Given the description of an element on the screen output the (x, y) to click on. 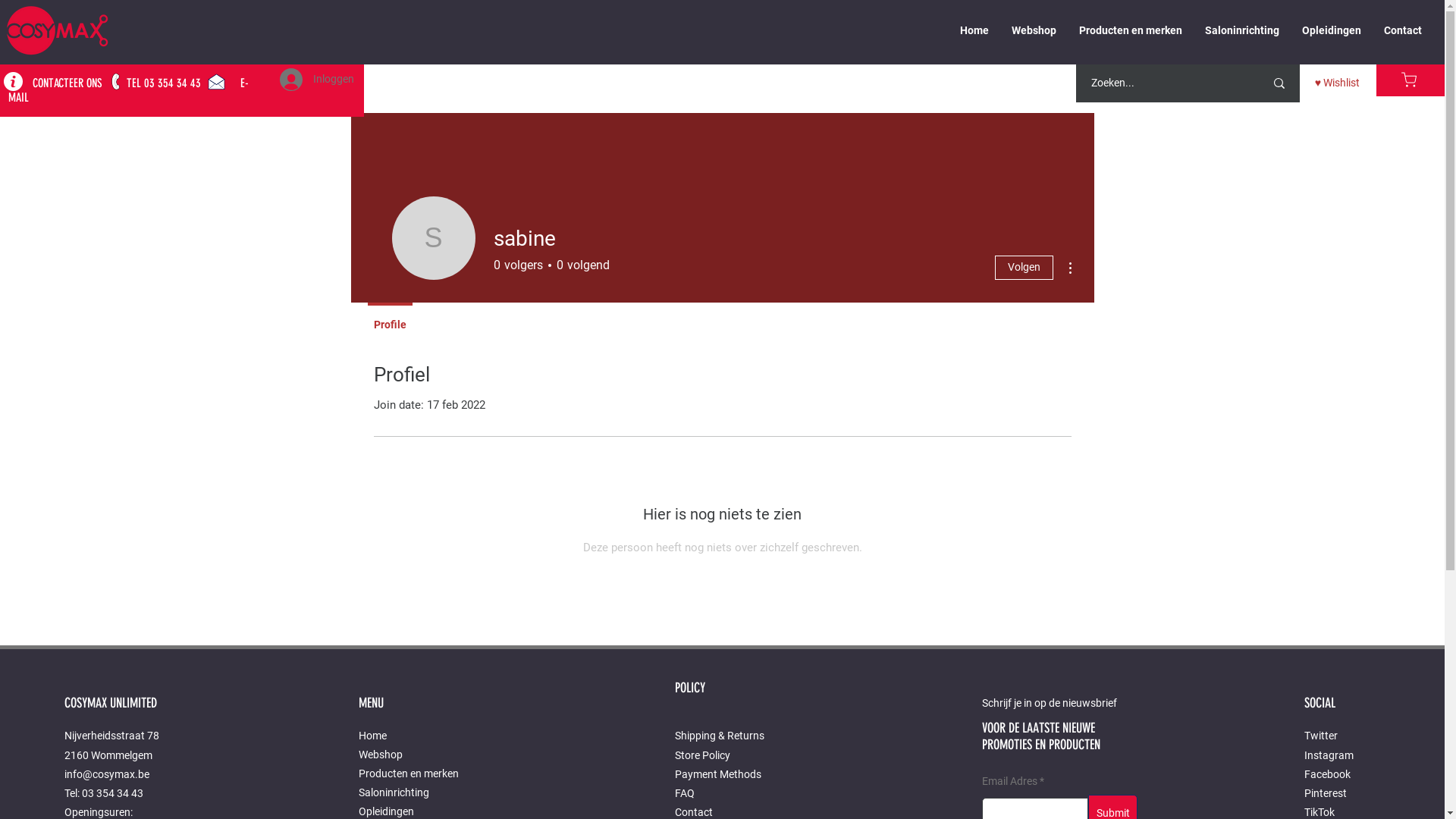
0
volgers Element type: text (517, 265)
Inloggen Element type: text (316, 79)
0
volgend Element type: text (579, 265)
Webshop Element type: text (1033, 30)
Instagram Element type: text (1328, 755)
info@cosymax.be Element type: text (106, 774)
Volgen Element type: text (1023, 267)
Contact Element type: text (693, 812)
Opleidingen Element type: text (1331, 30)
Contact Element type: text (1402, 30)
Producten en merken Element type: text (1130, 30)
Producten en merken Element type: text (417, 773)
CONTACTEER ONS Element type: text (67, 82)
TEL 03 354 34 43 Element type: text (163, 82)
Saloninrichting Element type: text (1241, 30)
Facebook Element type: text (1327, 774)
Home Element type: text (417, 735)
Home Element type: text (974, 30)
Profile Element type: text (389, 317)
Webshop Element type: text (417, 754)
Saloninrichting Element type: text (417, 792)
